Given the description of an element on the screen output the (x, y) to click on. 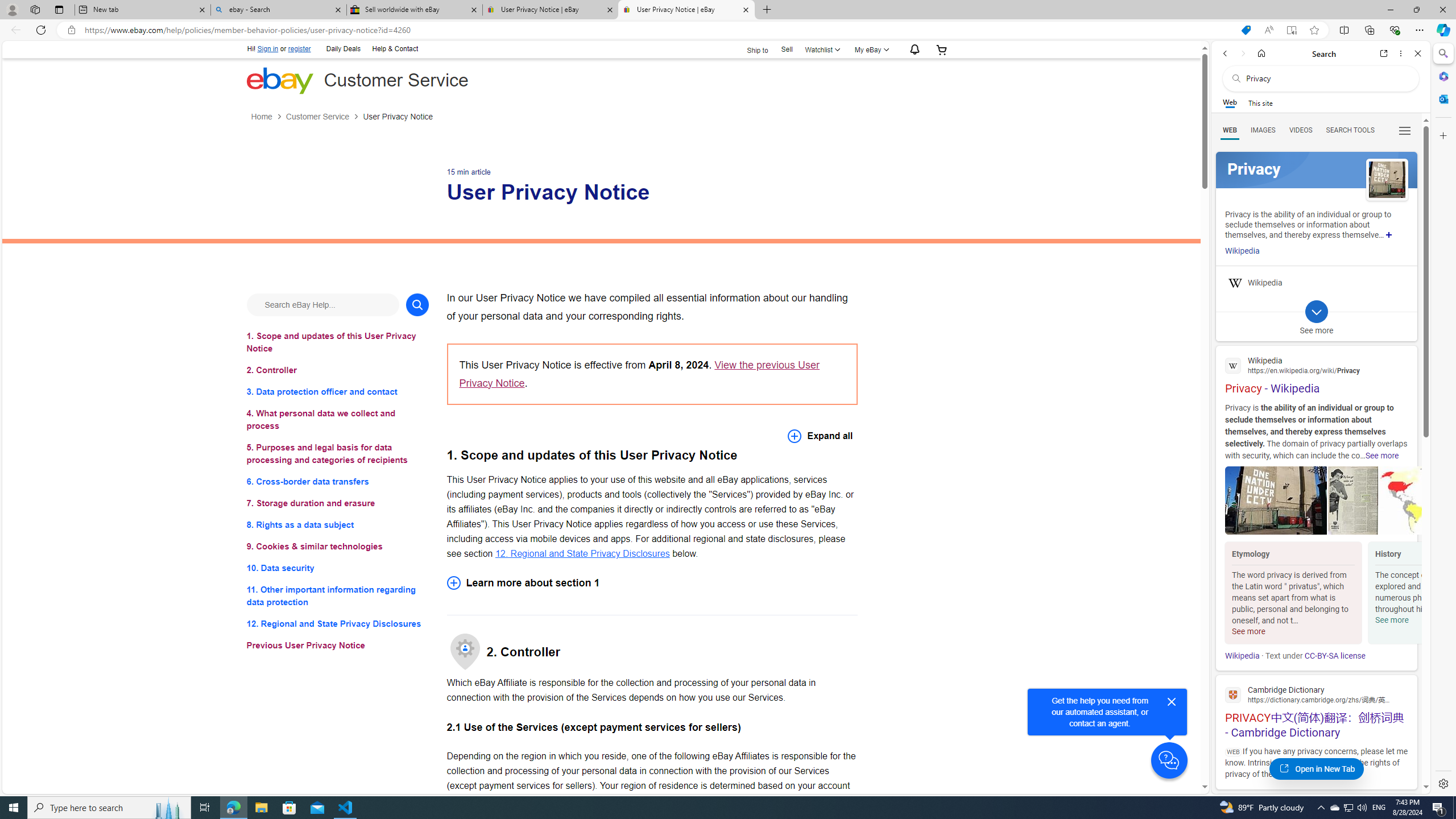
Search eBay Help... (322, 304)
9. Cookies & similar technologies (337, 546)
Ship to (750, 50)
WEB   (1230, 130)
Expand all (820, 435)
My eBayExpand My eBay (870, 49)
Watchlist (820, 49)
2. Controller (337, 369)
Class: spl_logobg (1315, 169)
Previous User Privacy Notice (337, 645)
11. Other important information regarding data protection (337, 596)
SEARCH TOOLS (1350, 130)
Your shopping cart (941, 49)
